Given the description of an element on the screen output the (x, y) to click on. 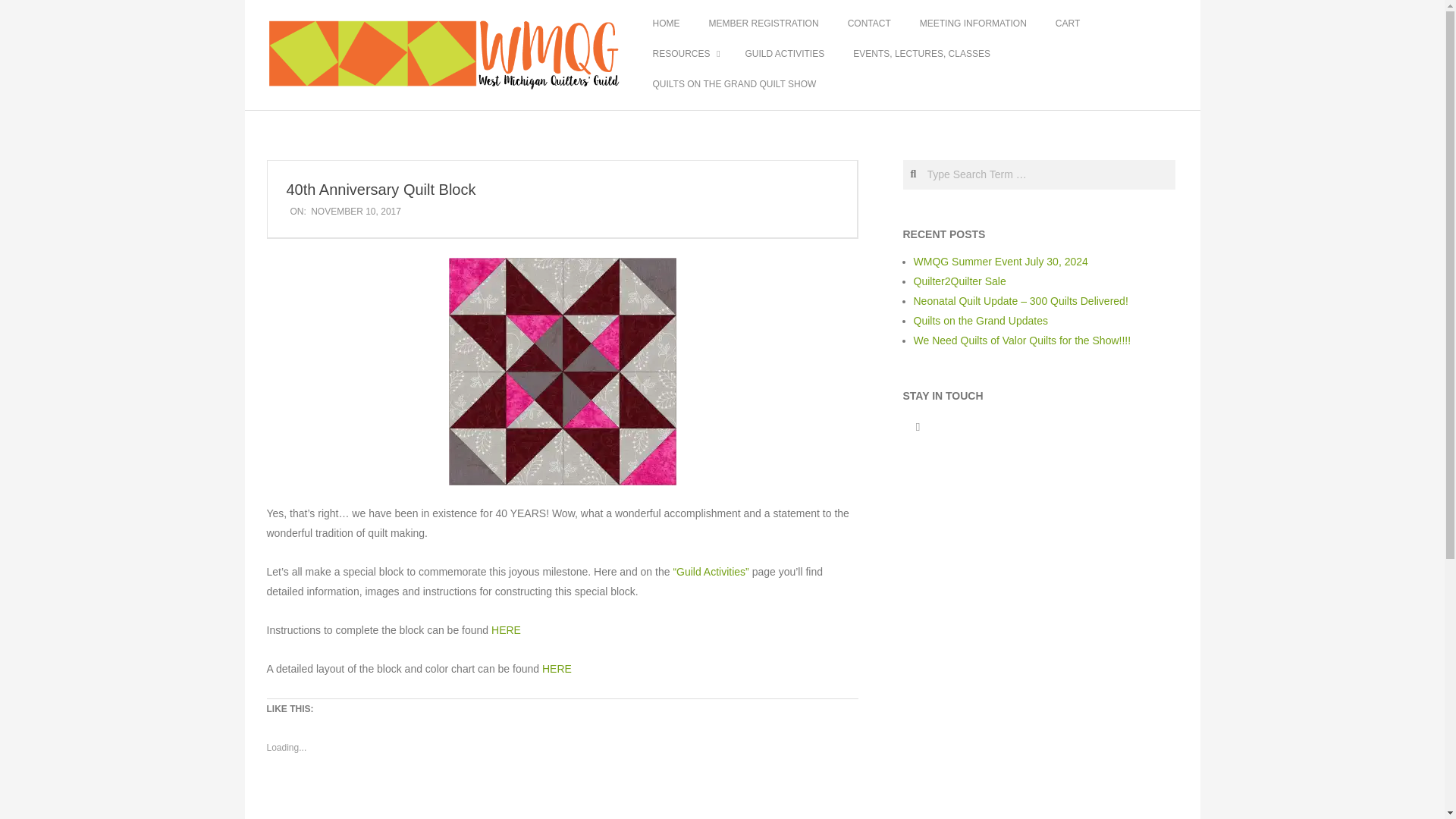
RESOURCES (684, 54)
HOME (666, 24)
Like or Reblog (562, 799)
QUILTS ON THE GRAND QUILT SHOW (734, 84)
EVENTS, LECTURES, CLASSES (921, 54)
MEMBER REGISTRATION (762, 24)
GUILD ACTIVITIES (785, 54)
WMQG Summer Event July 30, 2024 (999, 261)
Quilts on the Grand Updates (979, 320)
MEETING INFORMATION (972, 24)
